Given the description of an element on the screen output the (x, y) to click on. 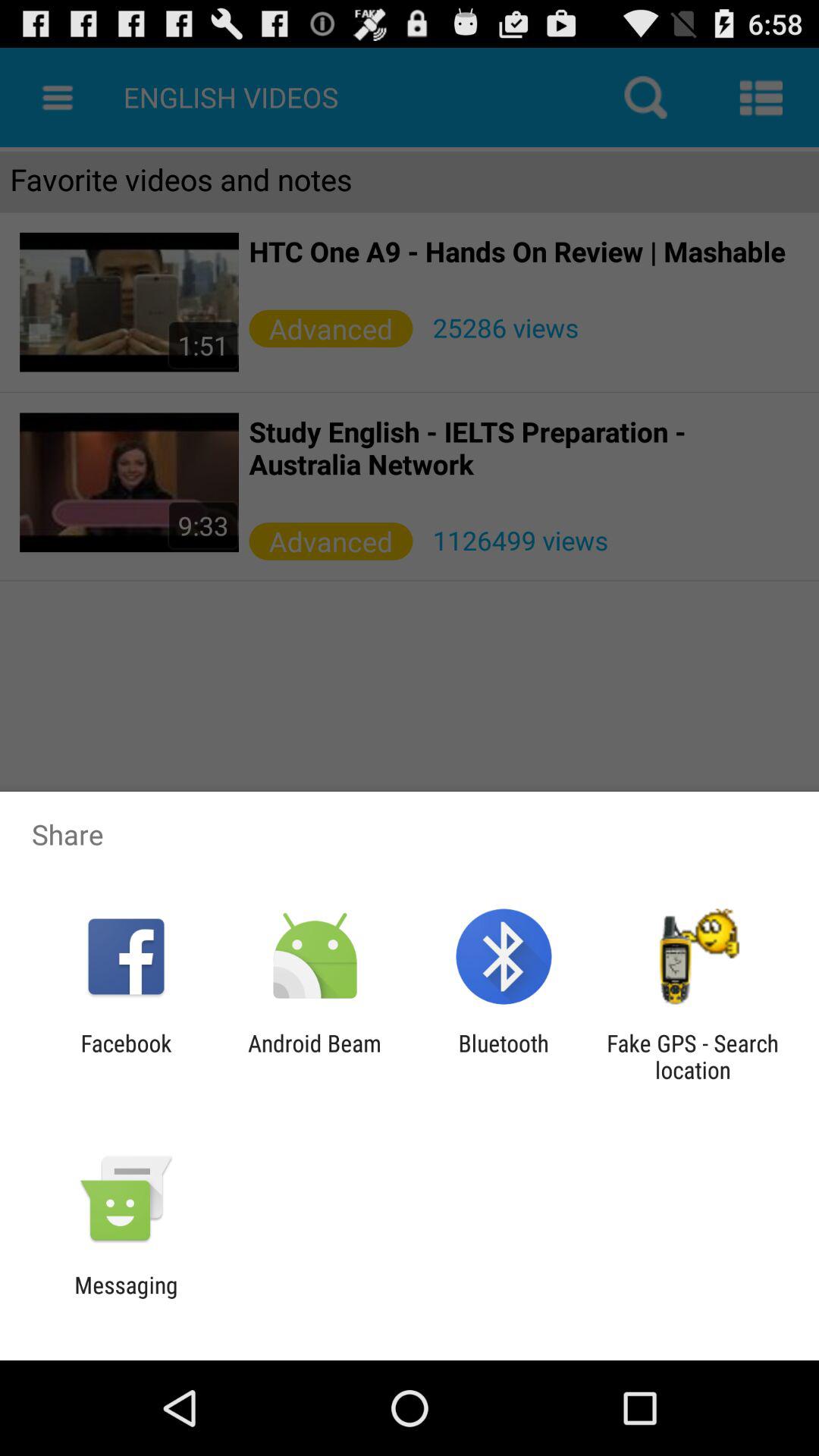
flip to the fake gps search (692, 1056)
